Given the description of an element on the screen output the (x, y) to click on. 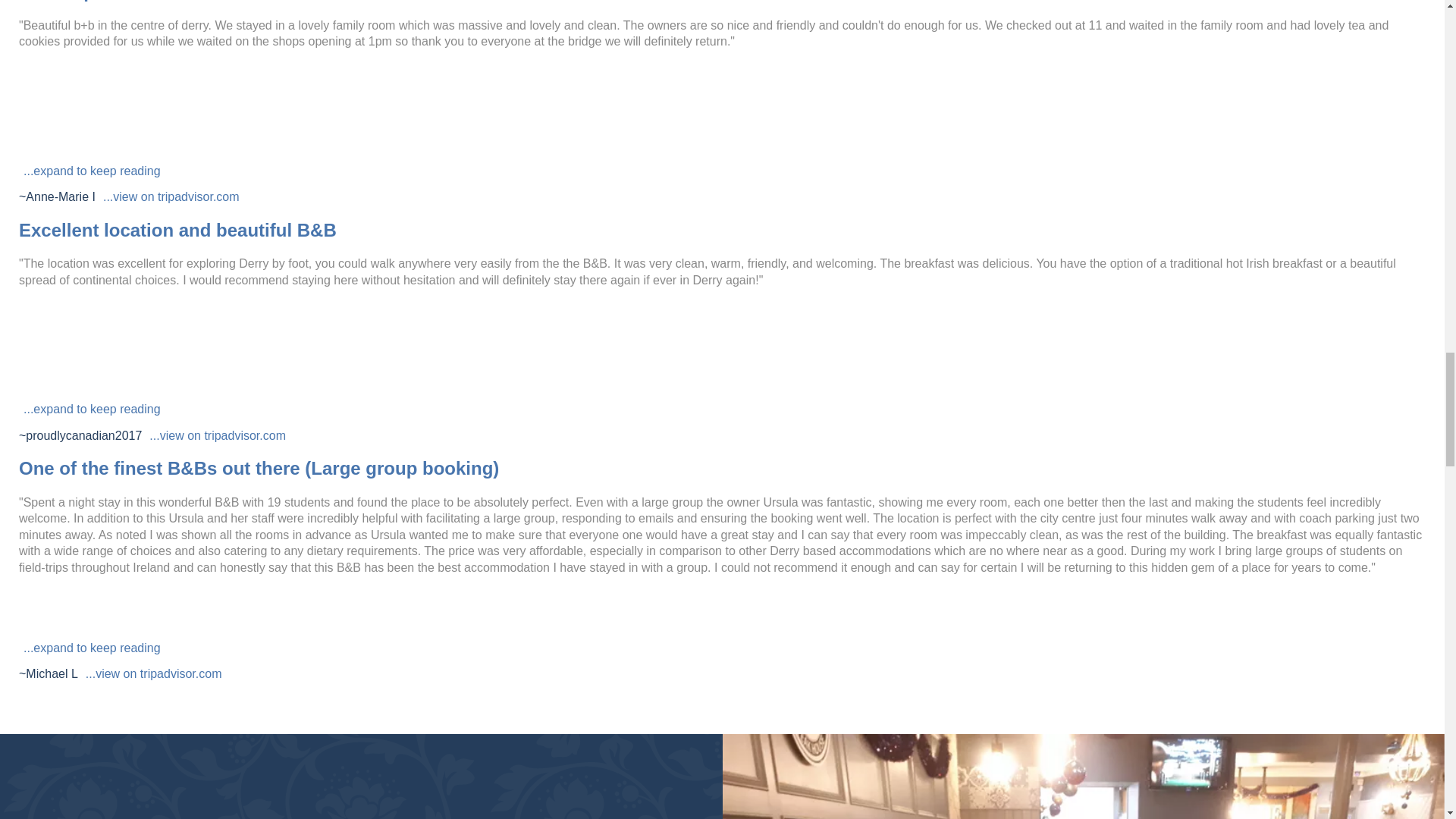
...view on tripadvisor.com (217, 435)
...view on tripadvisor.com (153, 673)
...expand to keep reading (91, 171)
...expand to keep reading (91, 647)
...expand to keep reading (91, 409)
...view on tripadvisor.com (171, 196)
